Given the description of an element on the screen output the (x, y) to click on. 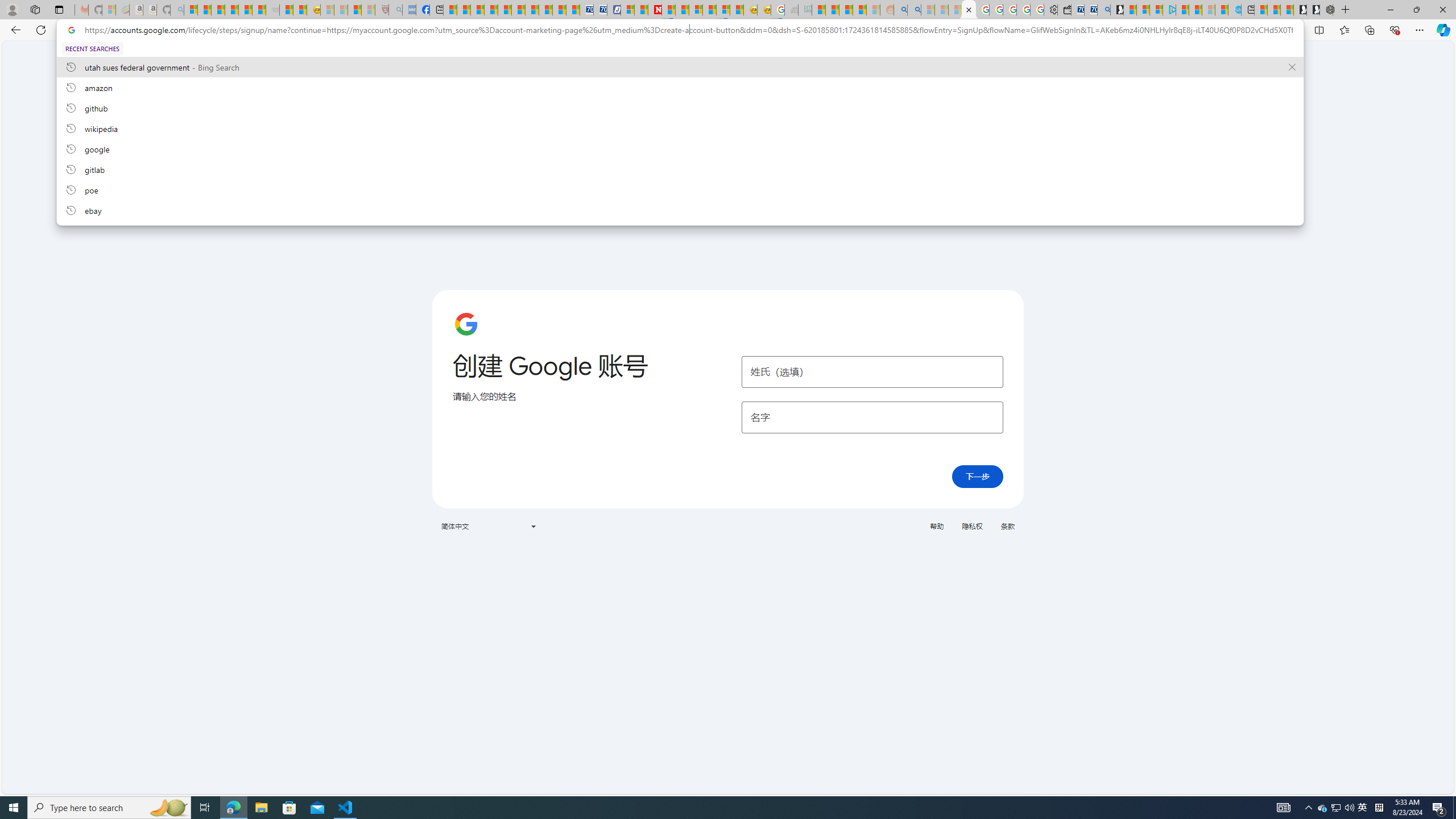
Climate Damage Becomes Too Severe To Reverse (490, 9)
Bing Real Estate - Home sales and rental listings (1103, 9)
amazon, recent searches from history (679, 86)
poe, recent searches from history (679, 189)
14 Common Myths Debunked By Scientific Facts (682, 9)
Recipes - MSN - Sleeping (327, 9)
Trusted Community Engagement and Contributions | Guidelines (667, 9)
